Given the description of an element on the screen output the (x, y) to click on. 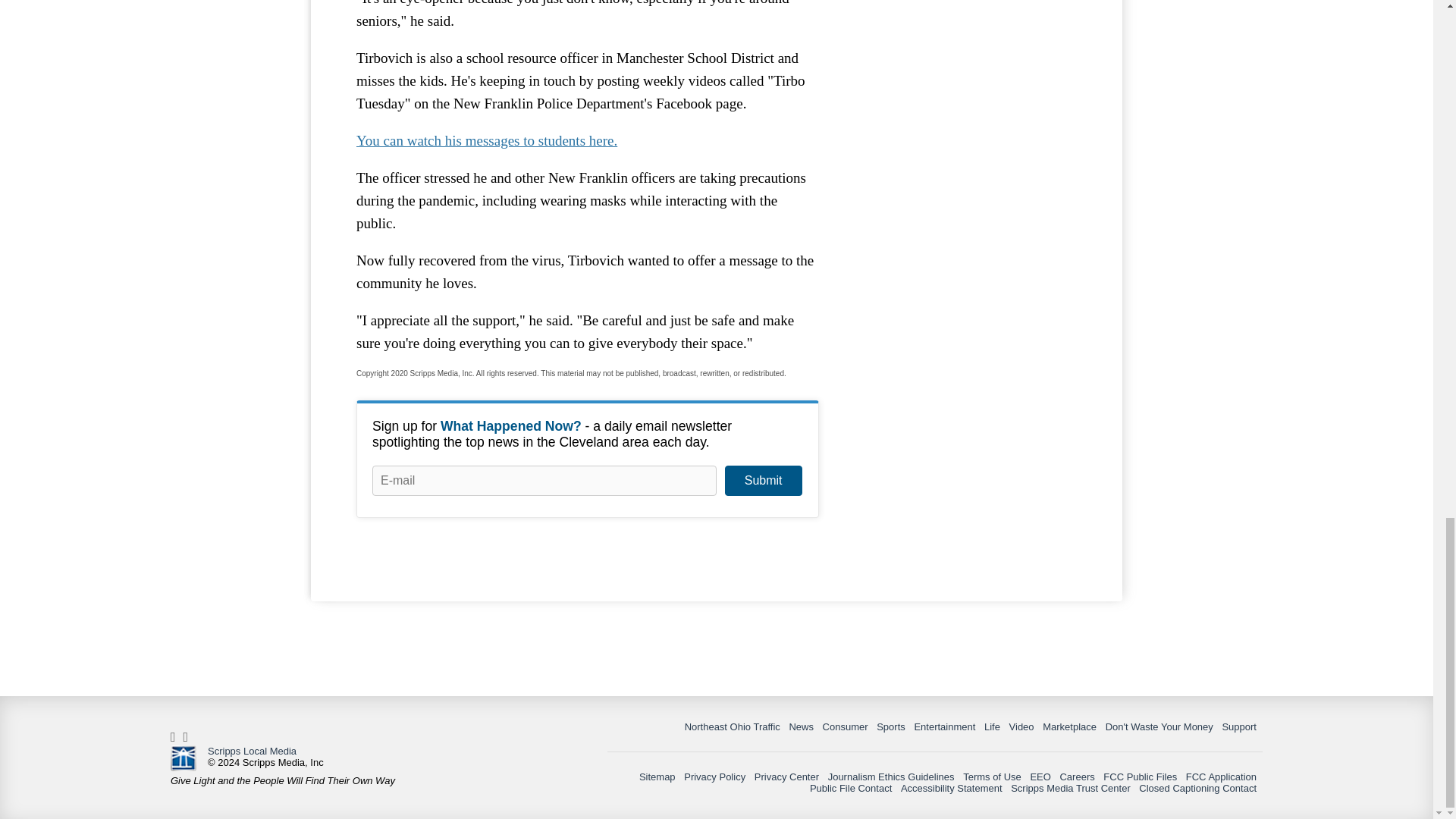
Submit (763, 481)
